Given the description of an element on the screen output the (x, y) to click on. 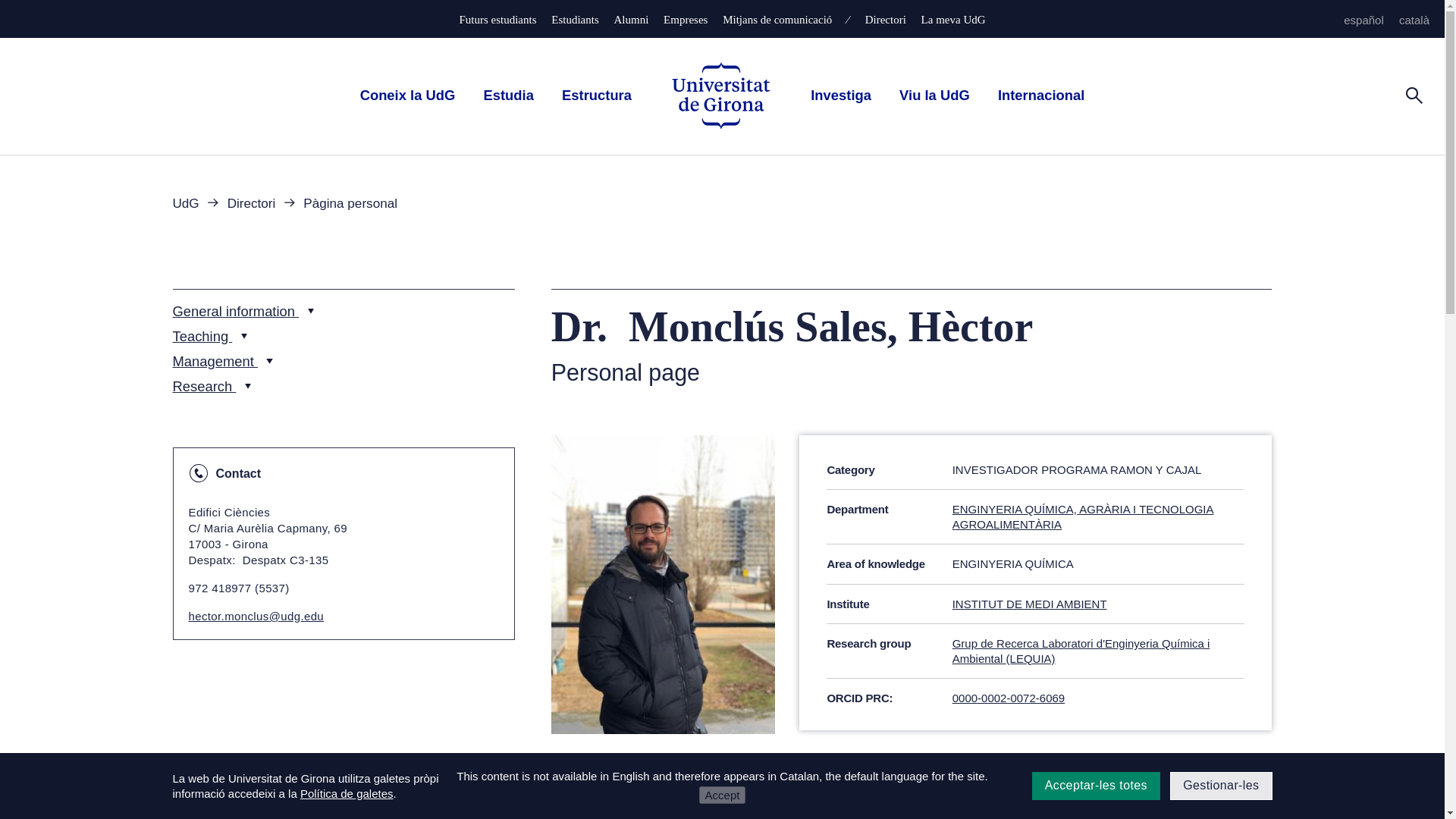
La meva UdG (953, 19)
UdG Home (720, 95)
Accept (721, 794)
Directori (884, 19)
Alumni (631, 19)
Estudiants (574, 19)
Empreses (685, 19)
Coneix la UdG (407, 94)
Futurs estudiants (496, 19)
